Given the description of an element on the screen output the (x, y) to click on. 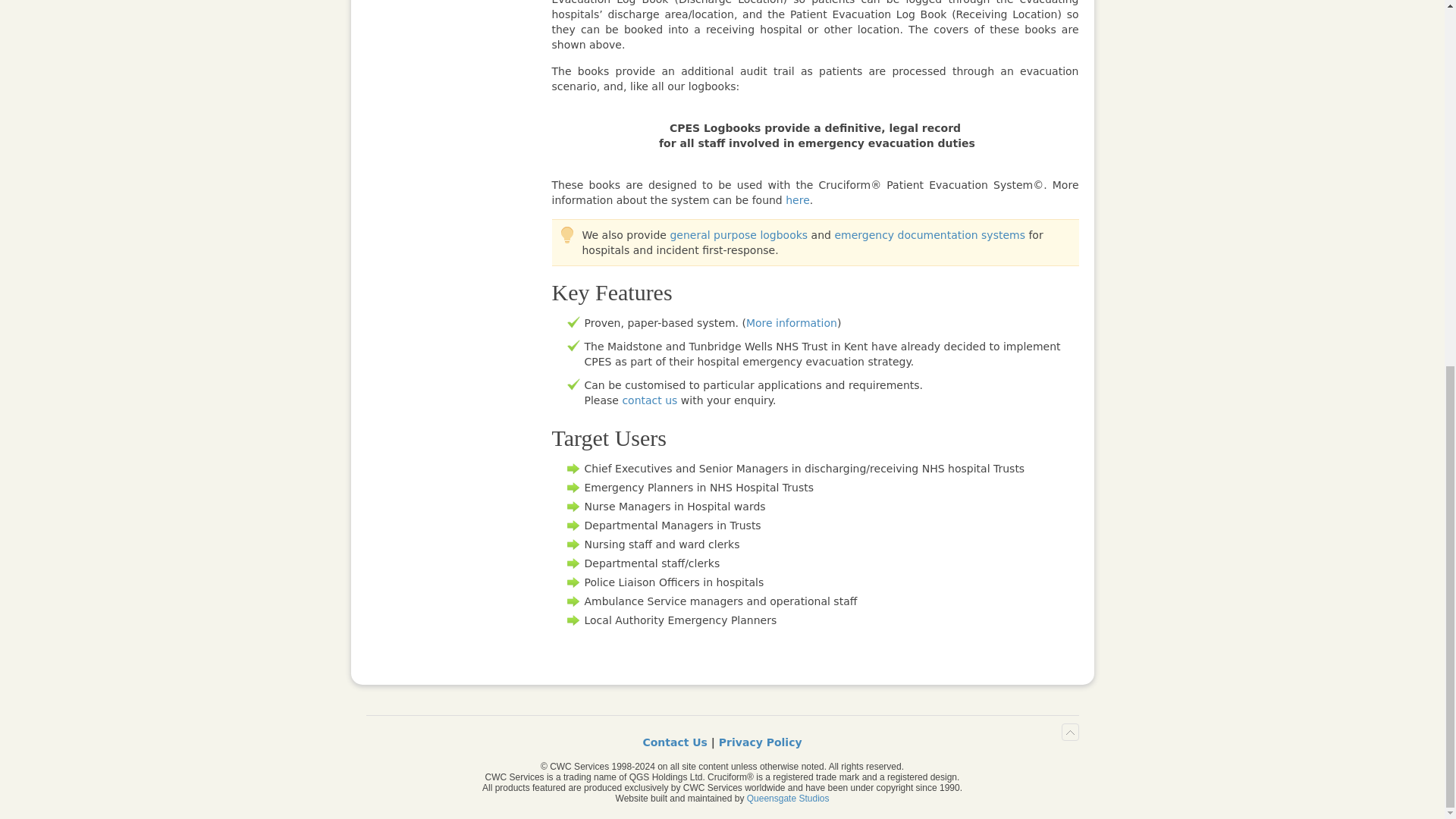
here (797, 200)
More information (791, 322)
emergency documentation systems (929, 234)
contact us (649, 399)
general purpose logbooks (738, 234)
